Given the description of an element on the screen output the (x, y) to click on. 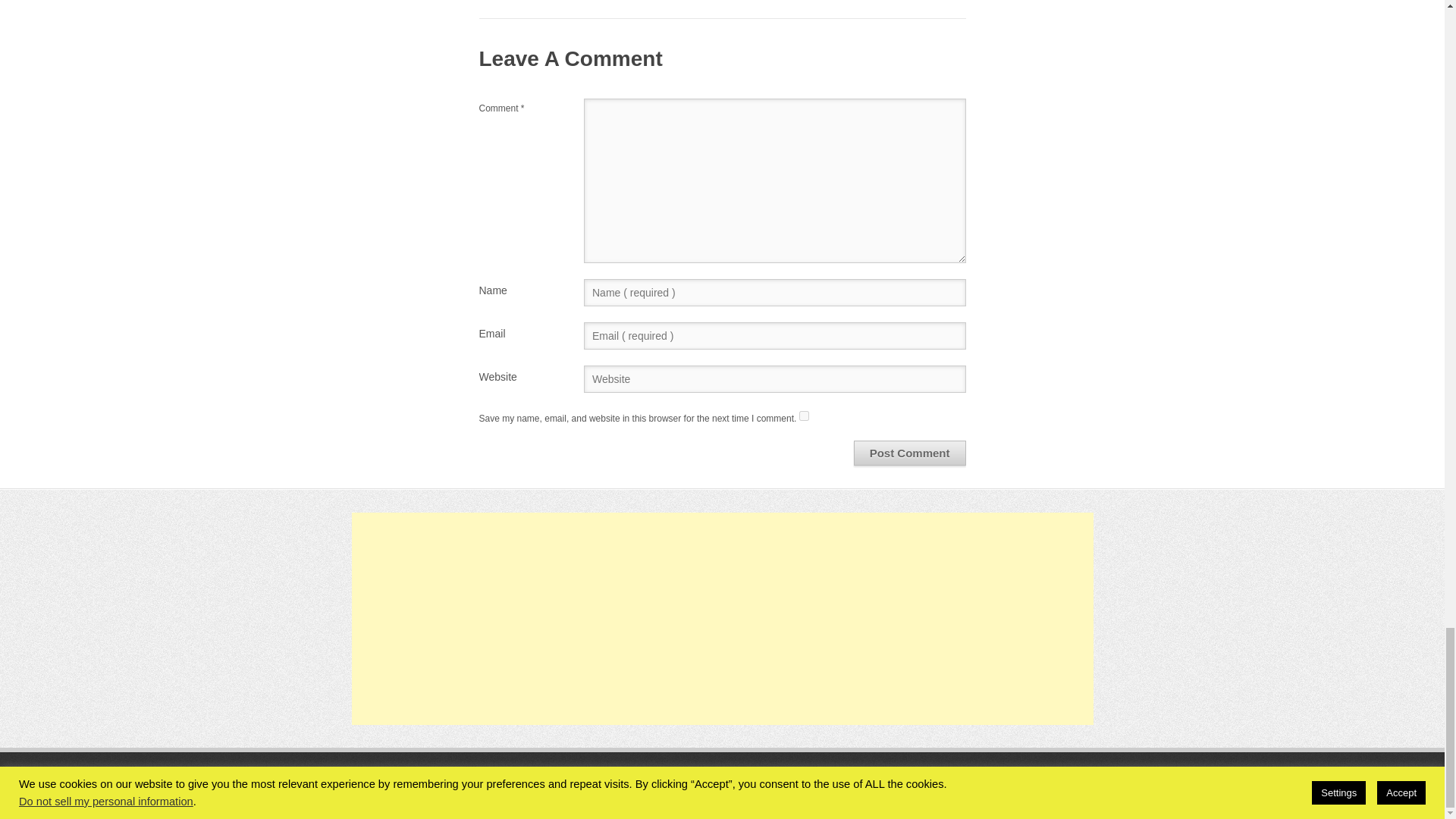
yes (804, 415)
Simple Catch Pro (1057, 783)
Rebuilding Malaysia (503, 783)
WordPress (958, 783)
Post Comment (909, 453)
